Given the description of an element on the screen output the (x, y) to click on. 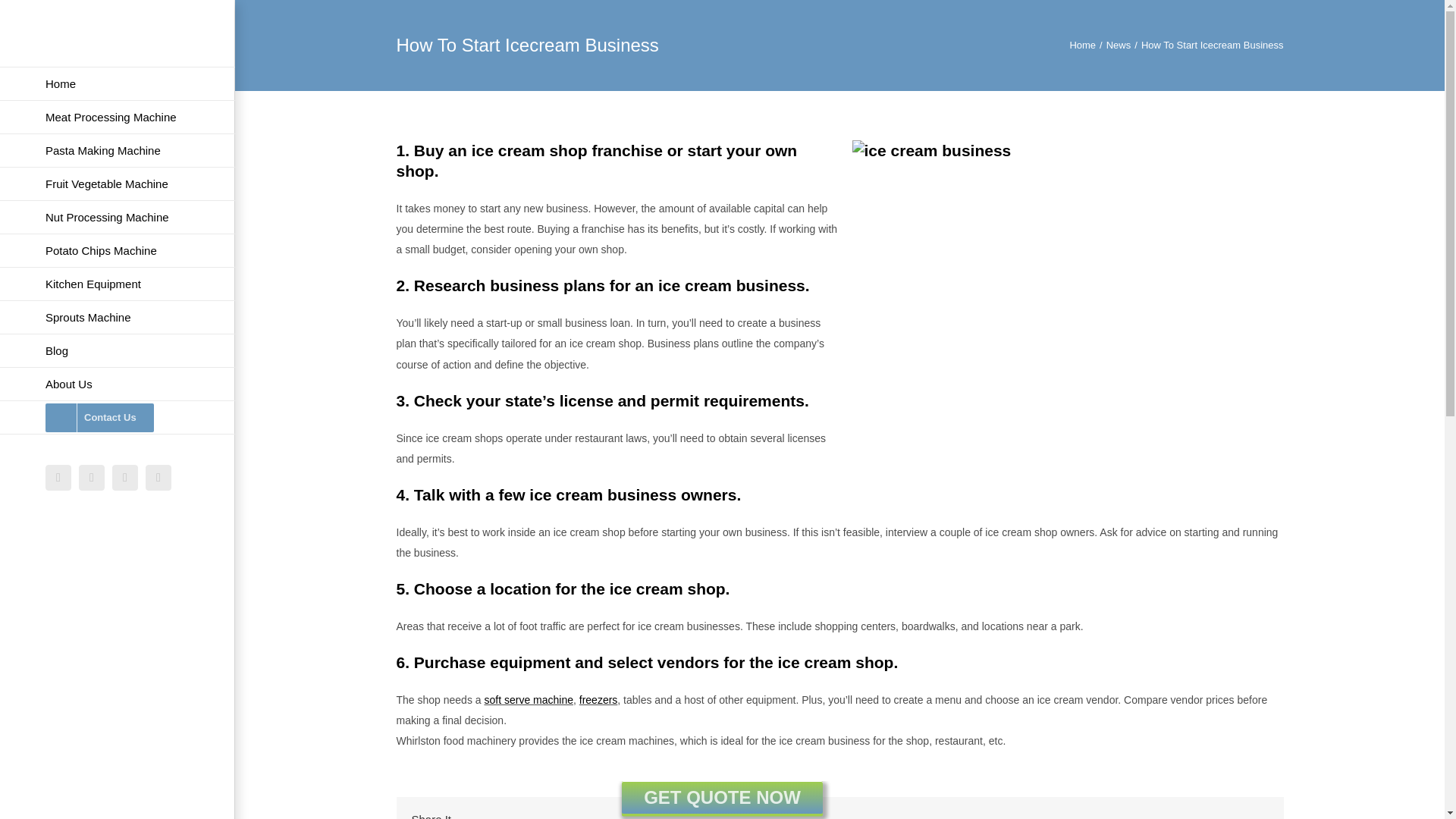
YouTube (91, 477)
Sprouts Machine (117, 317)
Email (158, 477)
About Us (117, 384)
Contact Us (117, 417)
LinkedIn (125, 477)
LinkedIn (125, 477)
Facebook (58, 477)
Fruit Vegetable Machine (117, 183)
Facebook (58, 477)
